Given the description of an element on the screen output the (x, y) to click on. 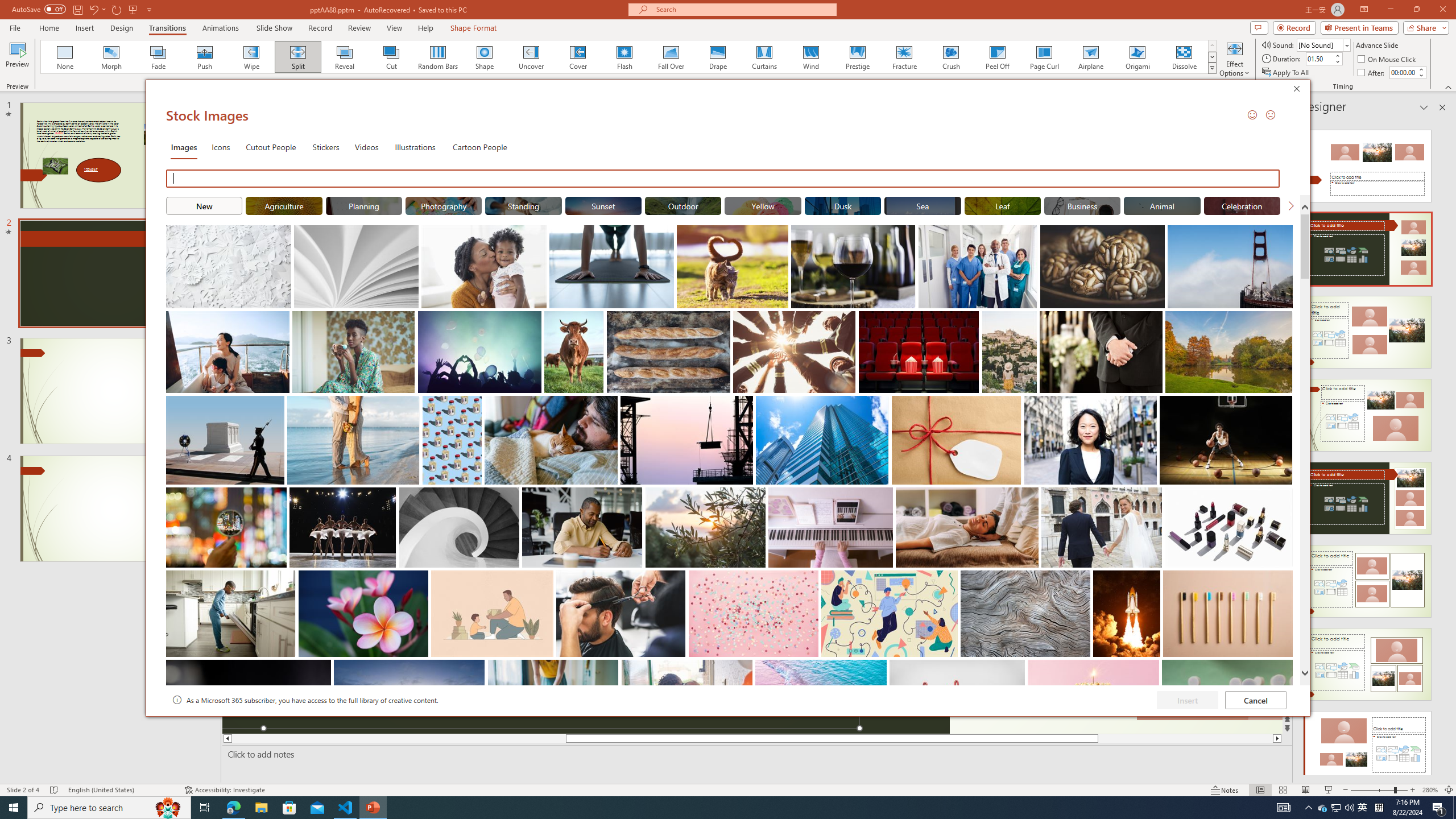
Cover (577, 56)
Crush (950, 56)
Icons (220, 146)
Search highlights icon opens search home window (167, 807)
Videos (366, 146)
Effect Options (1234, 58)
"Sea" Stock Images. (921, 205)
Morph (111, 56)
Origami (1136, 56)
